Given the description of an element on the screen output the (x, y) to click on. 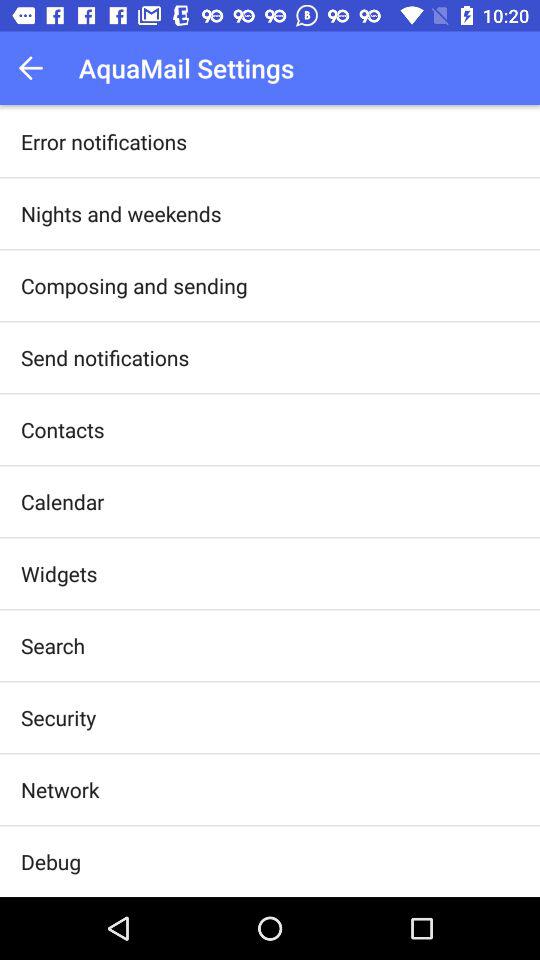
launch item above nights and weekends app (104, 141)
